Given the description of an element on the screen output the (x, y) to click on. 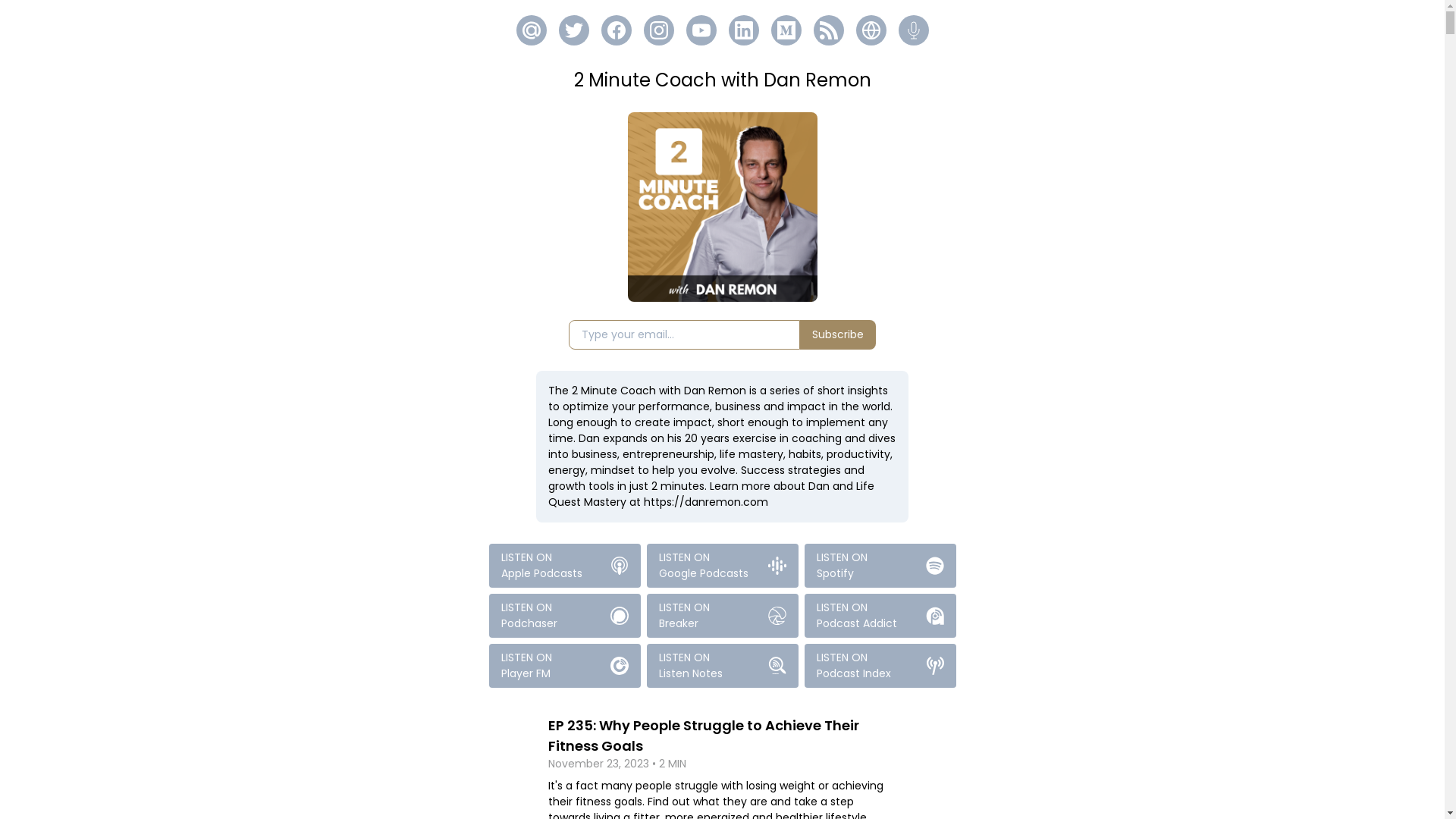
LISTEN ON
Listen Notes Element type: text (721, 665)
Subscribe Element type: text (837, 334)
LISTEN ON
Podcast Index Element type: text (879, 665)
LISTEN ON
Spotify Element type: text (879, 565)
LISTEN ON
Breaker Element type: text (721, 615)
LISTEN ON
Podcast Addict Element type: text (879, 615)
LISTEN ON
Player FM Element type: text (564, 665)
LISTEN ON
Apple Podcasts Element type: text (564, 565)
LISTEN ON
Podchaser Element type: text (564, 615)
LISTEN ON
Google Podcasts Element type: text (721, 565)
